Given the description of an element on the screen output the (x, y) to click on. 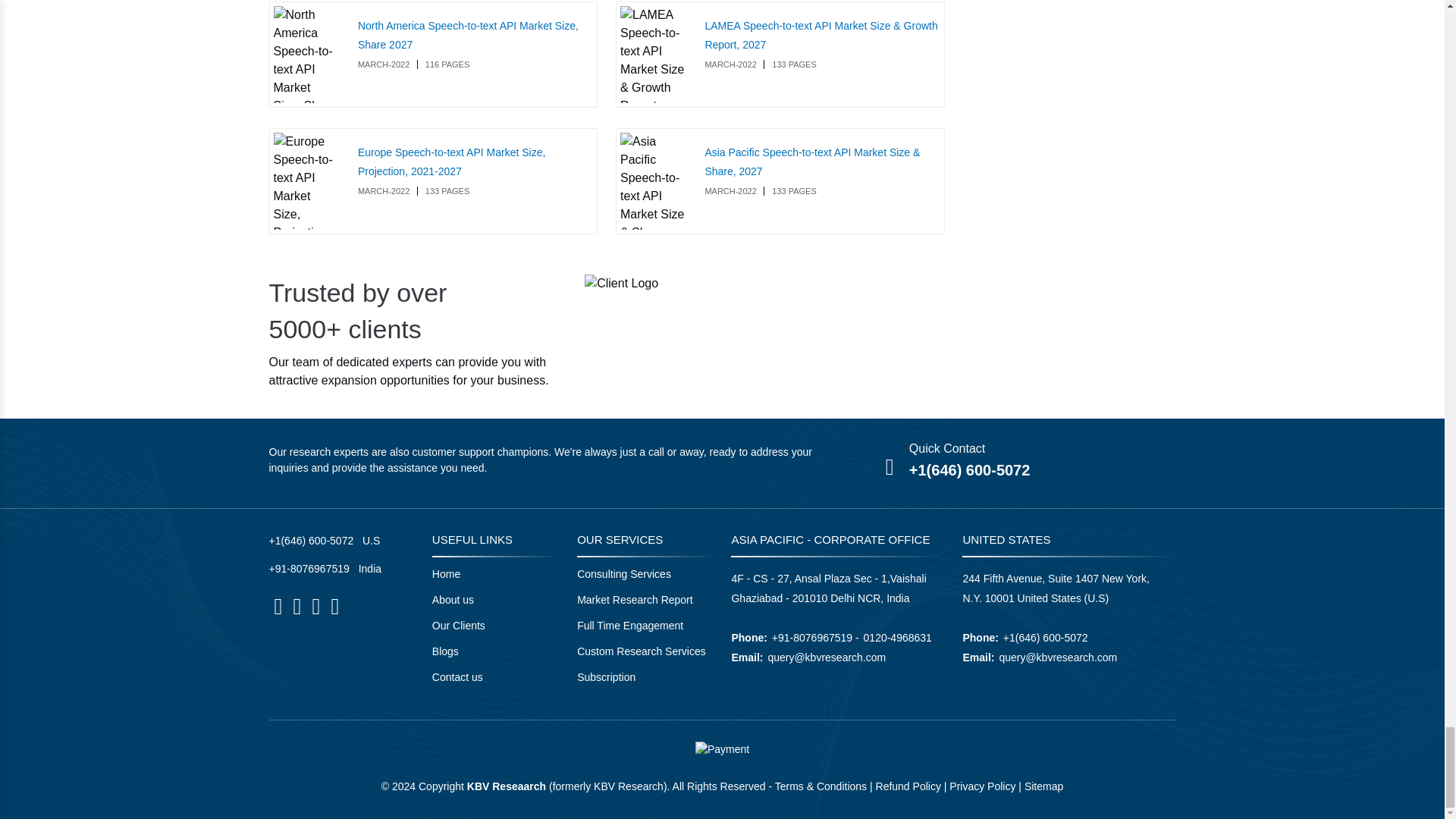
Client Logo (621, 283)
Home (446, 573)
About us (453, 599)
Europe Speech-to-text API Market Size, Projection, 2021-2027 (451, 161)
Twitter KBV Research (315, 606)
Europe Speech-to-text API Market Size, Projection, 2021-2027 (306, 181)
North America Speech-to-text API Market Size, Share 2027 (306, 54)
Youtube KBV Research (334, 606)
Facebook KBV Research (278, 606)
Linkedin KBV Research (296, 606)
North America Speech-to-text API Market Size, Share 2027 (468, 34)
